Given the description of an element on the screen output the (x, y) to click on. 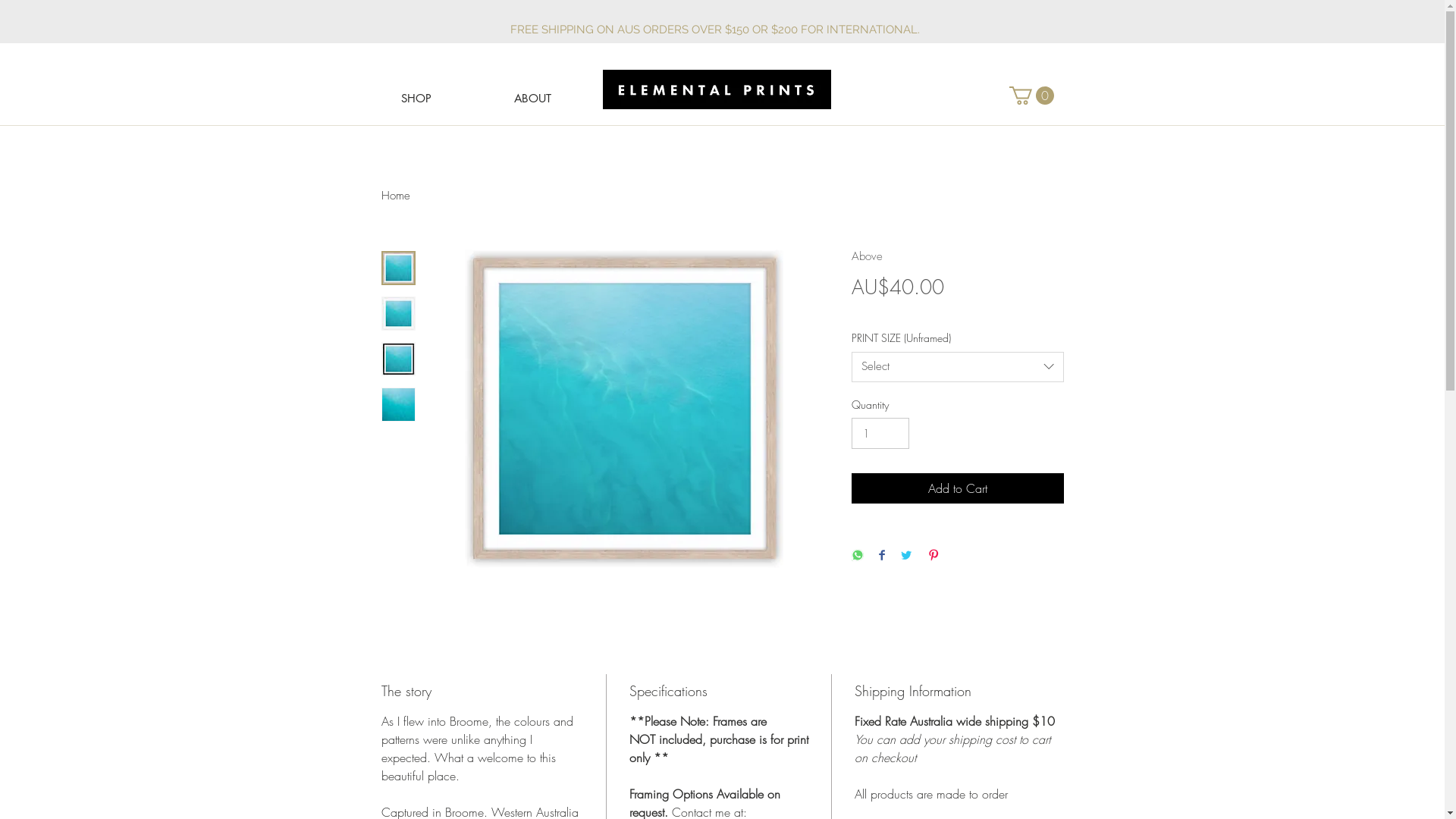
  Element type: text (923, 29)
Add to Cart Element type: text (956, 488)
ABOUT Element type: text (532, 97)
0 Element type: text (1030, 95)
SHOP Element type: text (415, 97)
Select Element type: text (956, 366)
Home Element type: text (394, 195)
